Given the description of an element on the screen output the (x, y) to click on. 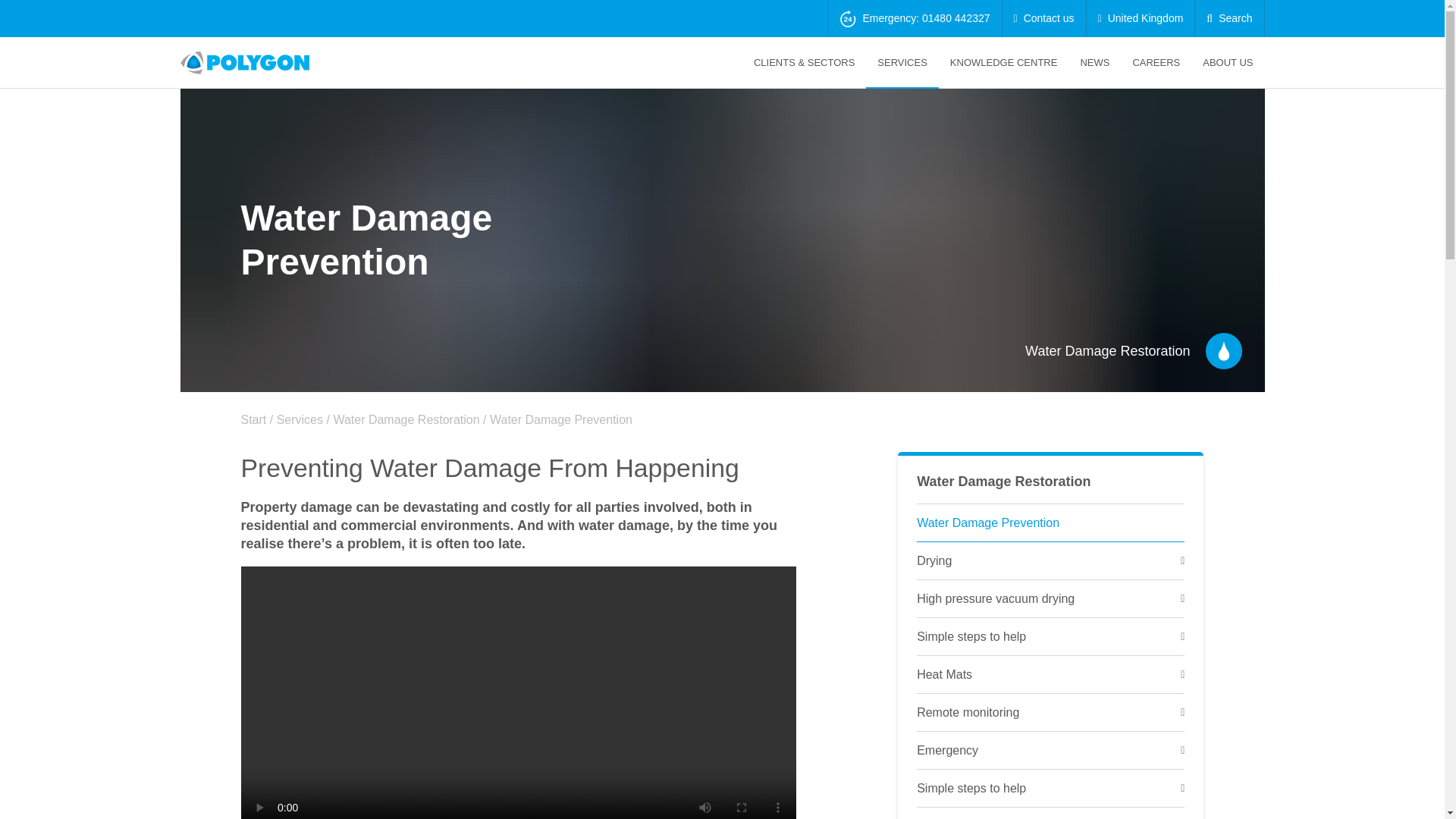
High pressure vacuum drying (1051, 598)
Water Damage Prevention (1051, 523)
Water Damage Restoration (1003, 481)
Simple steps to help (1051, 637)
Remote monitoring (1051, 712)
News (1094, 62)
Heat Mats (1051, 674)
Simple steps to help (1051, 788)
Careers (1156, 62)
About us (1227, 62)
